Given the description of an element on the screen output the (x, y) to click on. 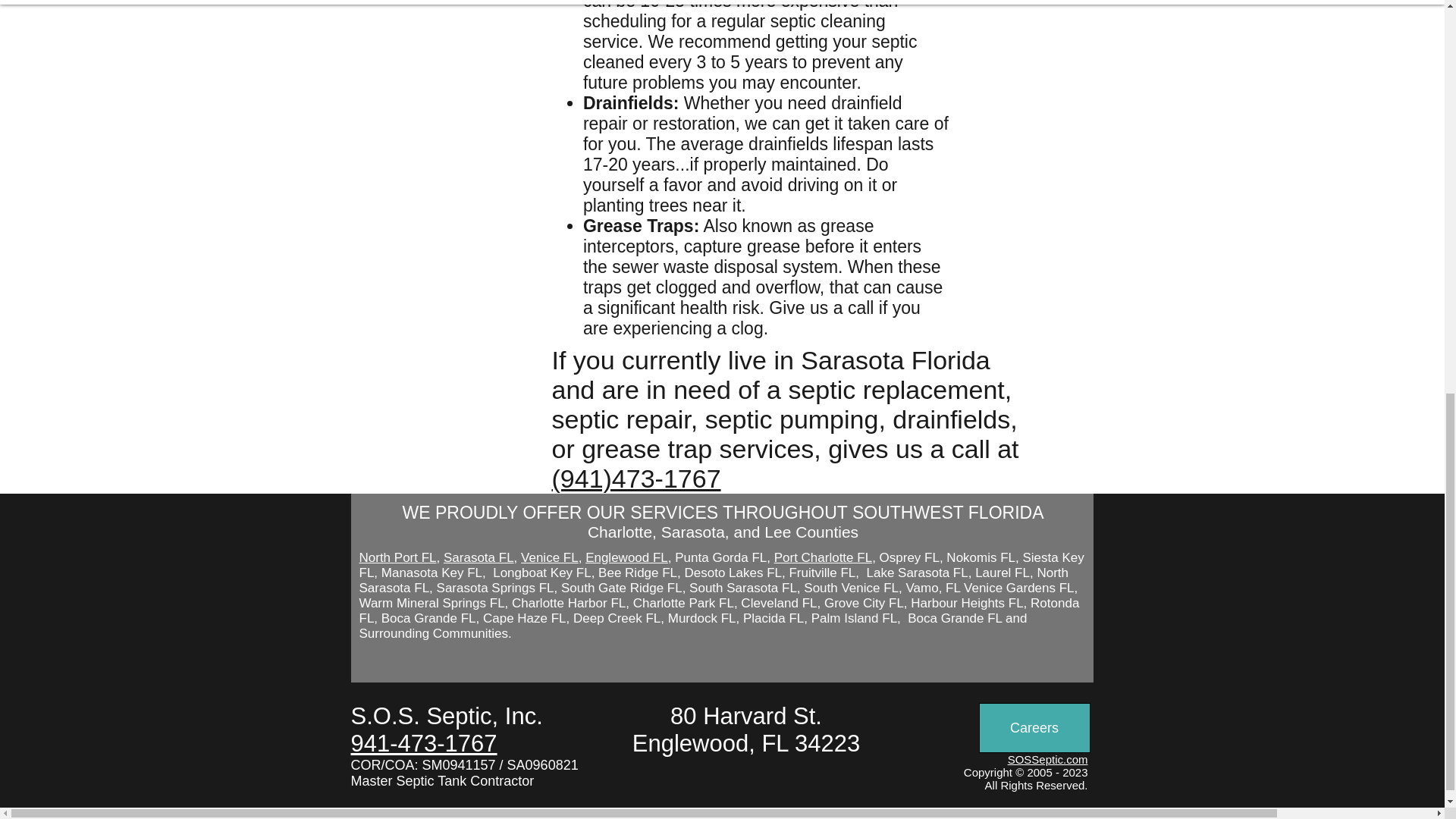
Venice FL (549, 557)
Sarasota FL (478, 557)
Englewood FL (626, 557)
Port Charlotte FL (823, 557)
941-473-1767 (423, 743)
North Port FL (397, 557)
Careers (1033, 727)
SOSSeptic.com (1047, 758)
